Given the description of an element on the screen output the (x, y) to click on. 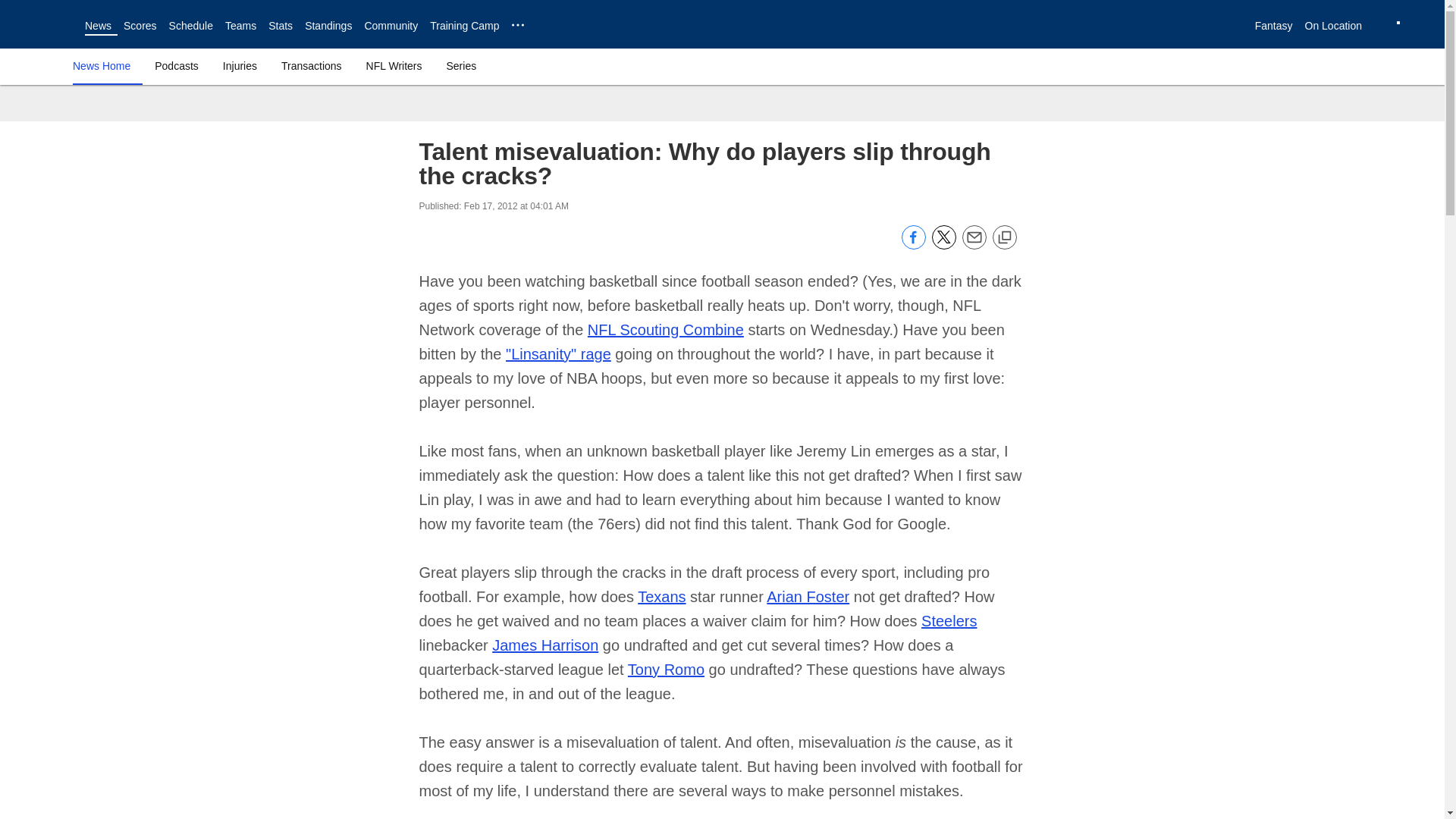
Teams (240, 25)
Scores (140, 25)
News (98, 25)
Schedule (190, 25)
Link to NFL homepage (42, 23)
Teams (240, 25)
News (98, 25)
Stats (279, 25)
Scores (140, 25)
Schedule (190, 25)
